Given the description of an element on the screen output the (x, y) to click on. 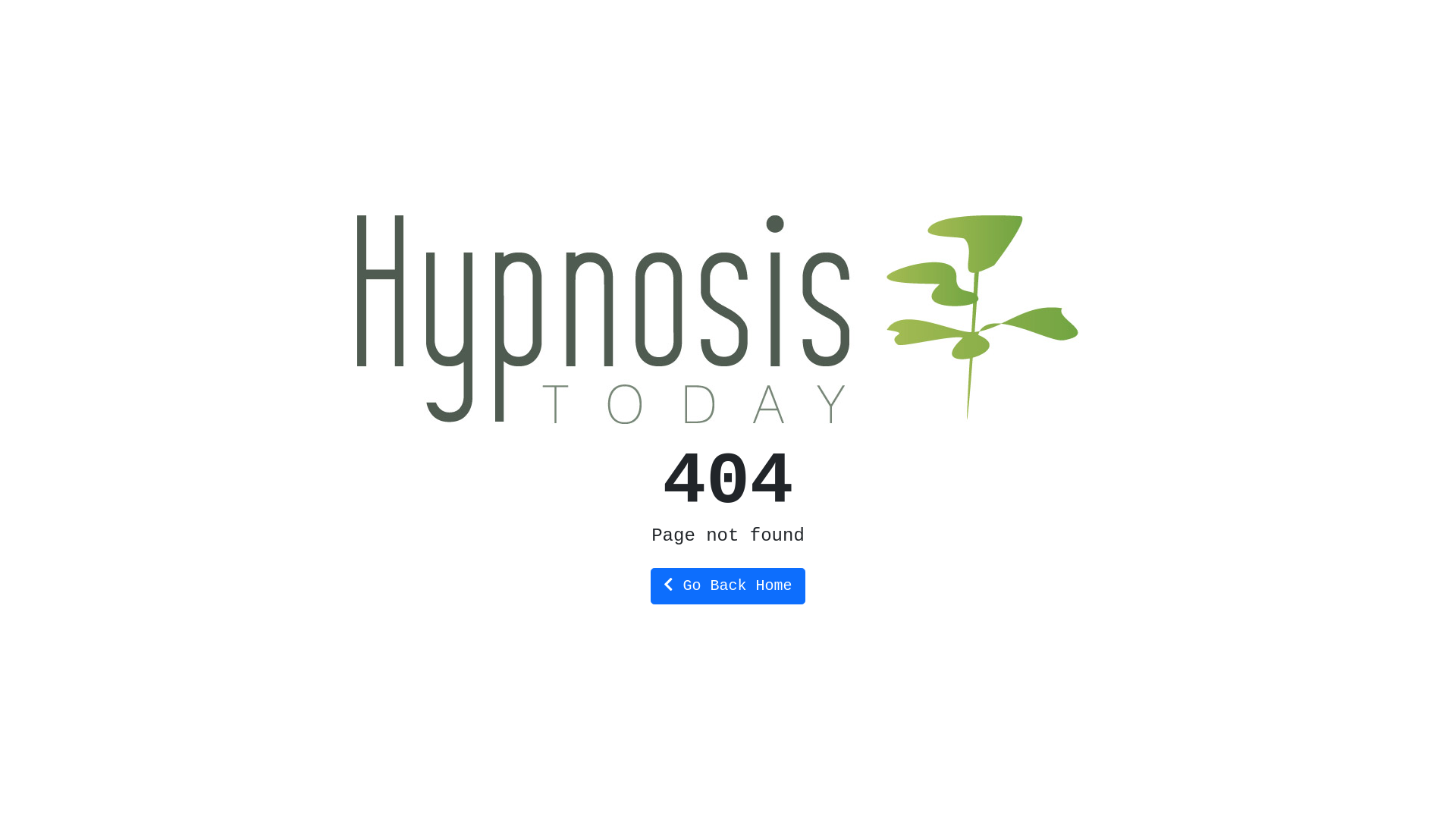
Go Back Home Element type: text (727, 585)
